Given the description of an element on the screen output the (x, y) to click on. 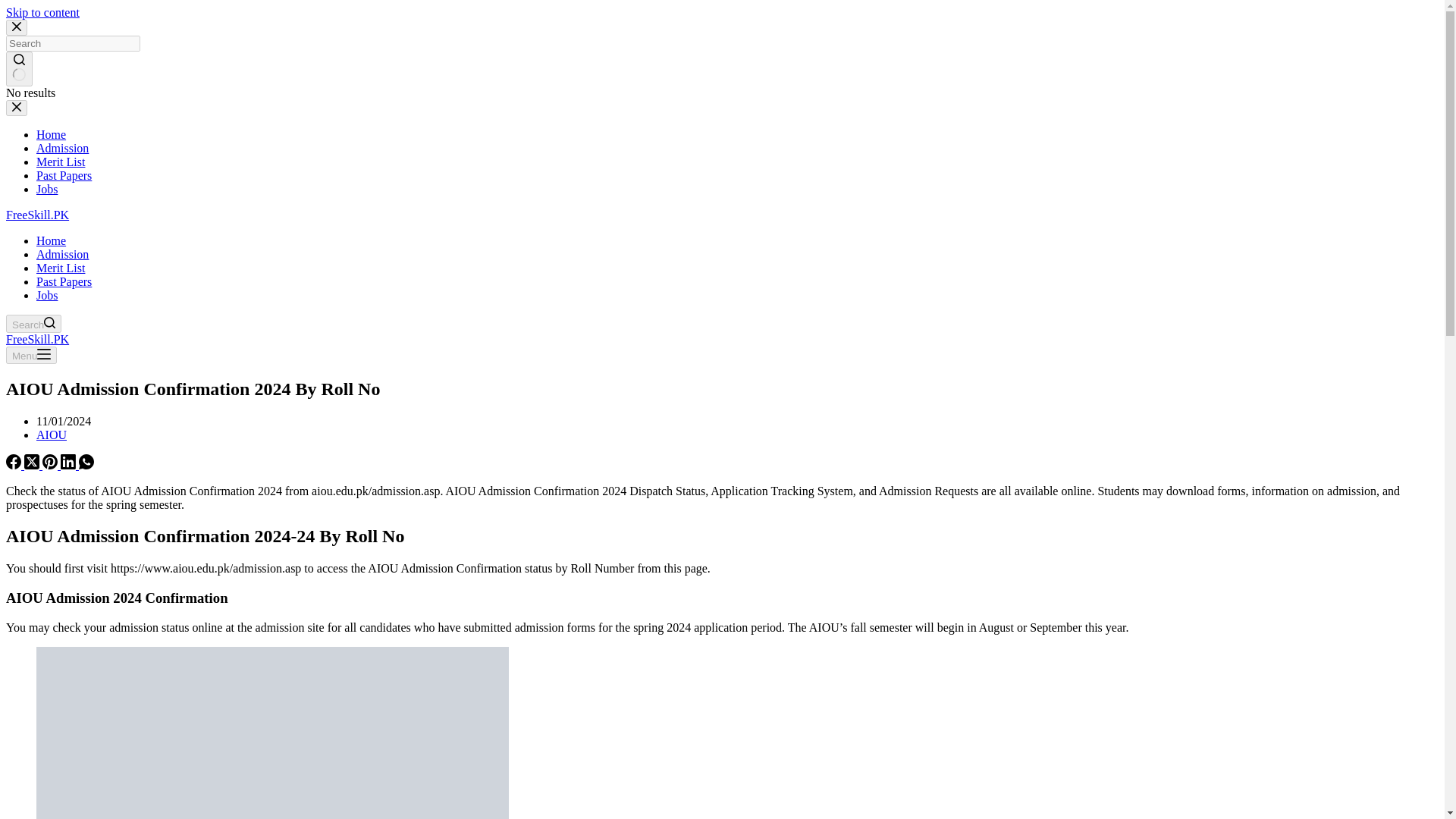
Search for... (72, 43)
Merit List (60, 161)
Home (50, 133)
Search (33, 323)
Past Papers (63, 174)
Jobs (47, 295)
Jobs (47, 188)
FreeSkill.PK (36, 338)
Admission (62, 254)
FreeSkill.PK (36, 214)
Home (50, 240)
Past Papers (63, 281)
Menu (30, 354)
AIOU (51, 434)
Merit List (60, 267)
